Given the description of an element on the screen output the (x, y) to click on. 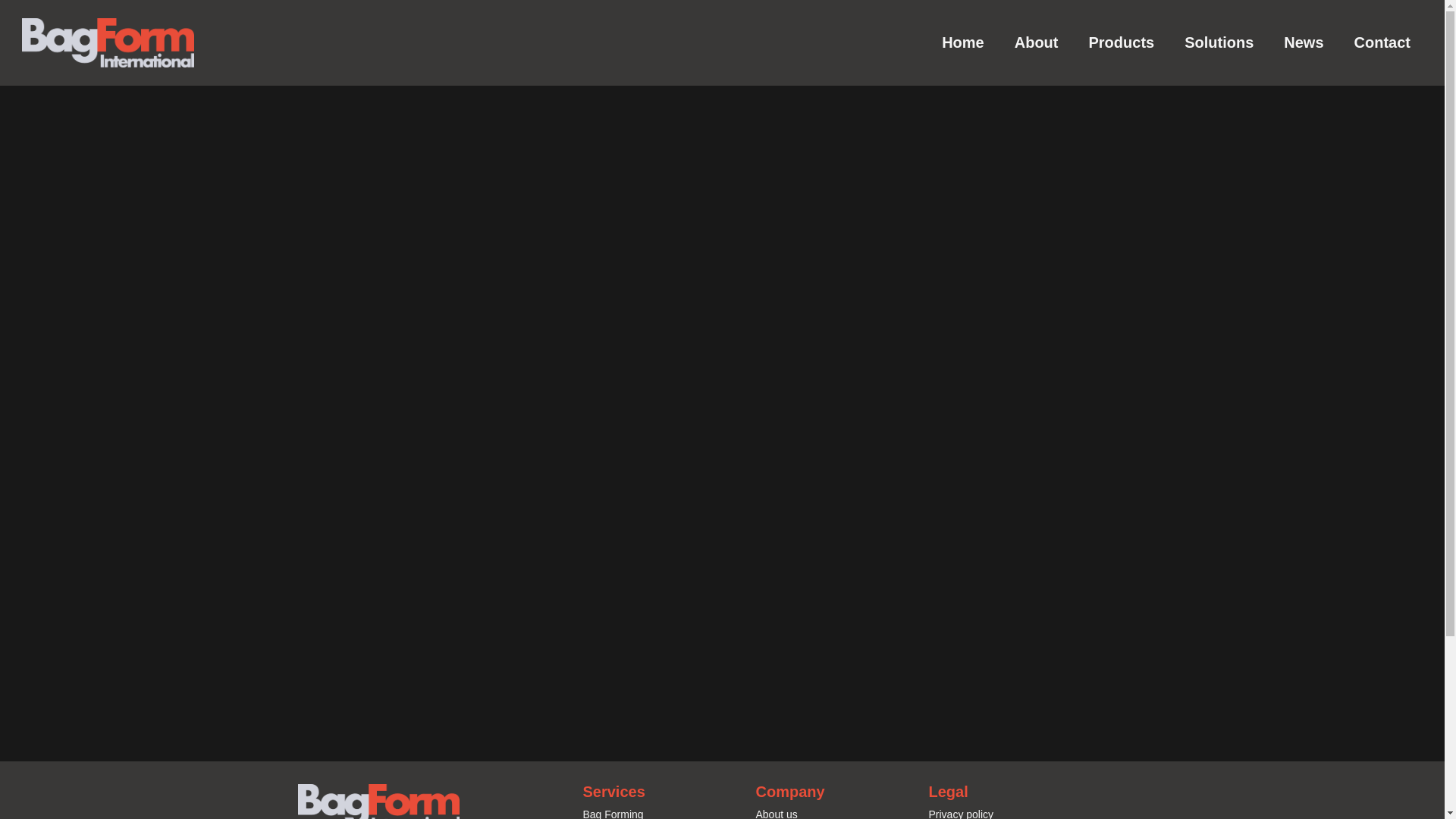
Privacy policy (960, 813)
Products (1121, 42)
Contact (1382, 42)
About us (775, 813)
Home (962, 42)
Solutions (1218, 42)
News (1303, 42)
Bag Forming (612, 813)
About (1036, 42)
